Given the description of an element on the screen output the (x, y) to click on. 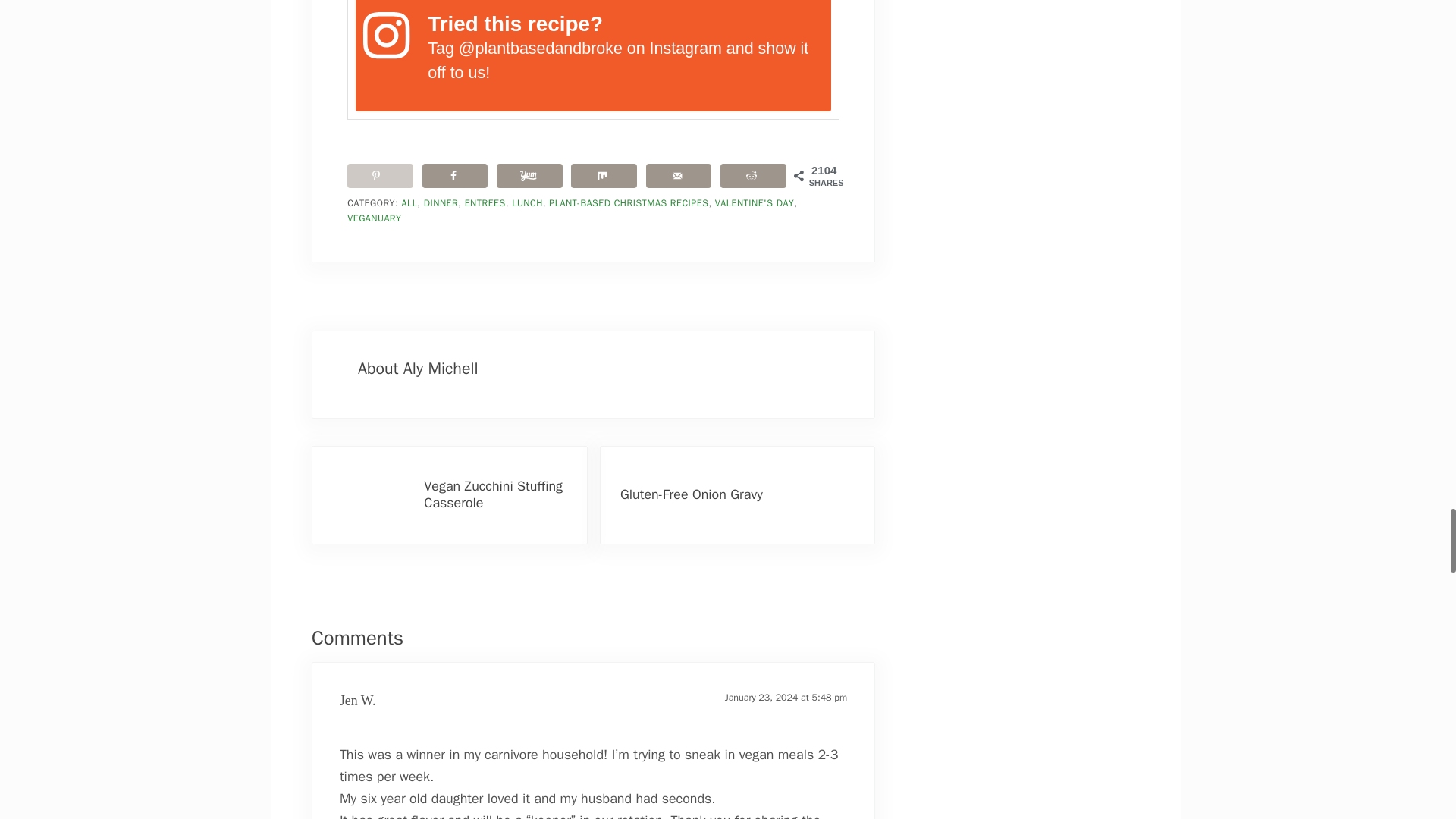
Send over email (678, 175)
Save to Pinterest (380, 175)
Share on Reddit (753, 175)
Share on Mix (603, 175)
Share on Yummly (529, 175)
Share on Facebook (454, 175)
